Given the description of an element on the screen output the (x, y) to click on. 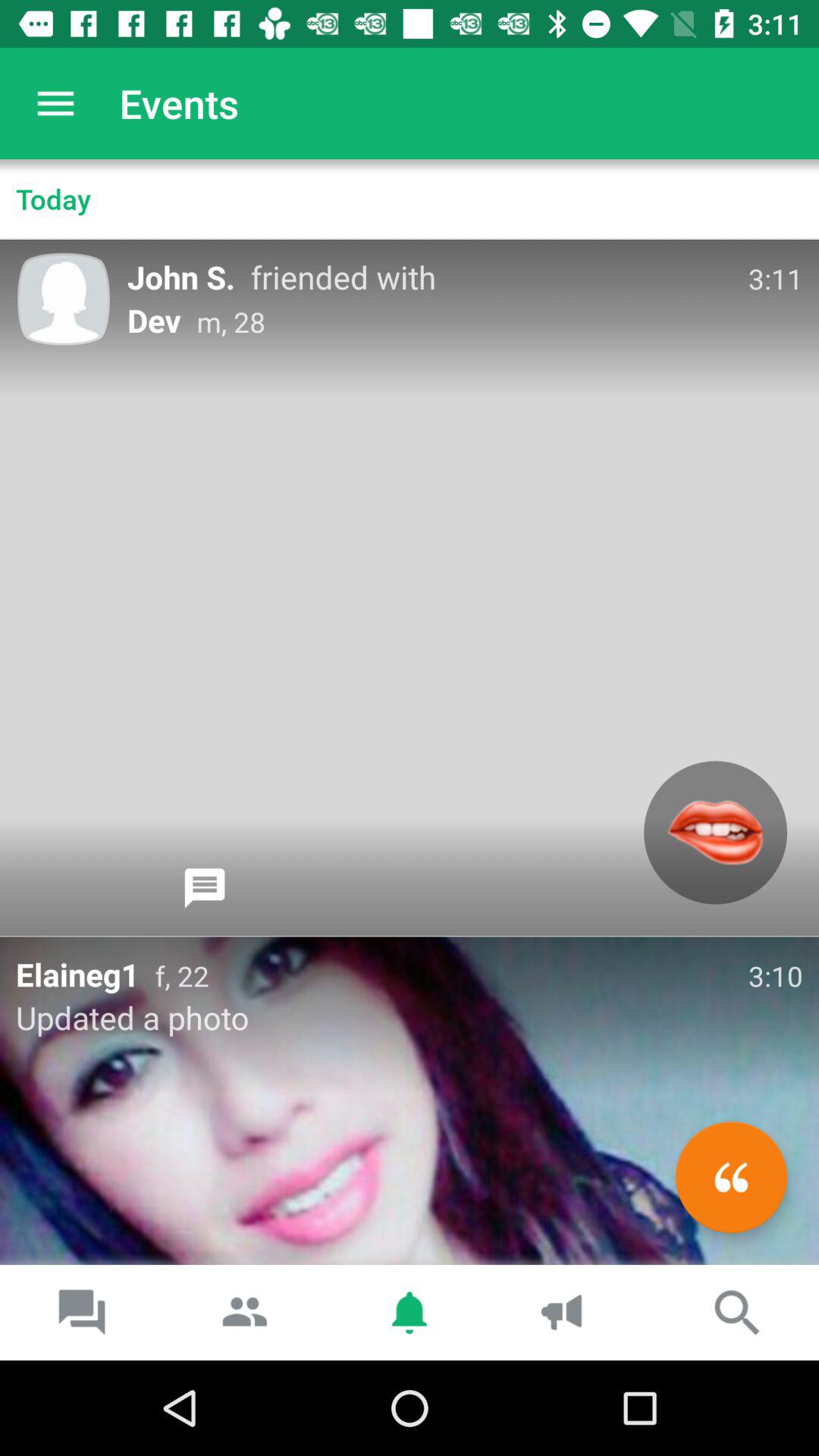
repost photo (731, 1177)
